Given the description of an element on the screen output the (x, y) to click on. 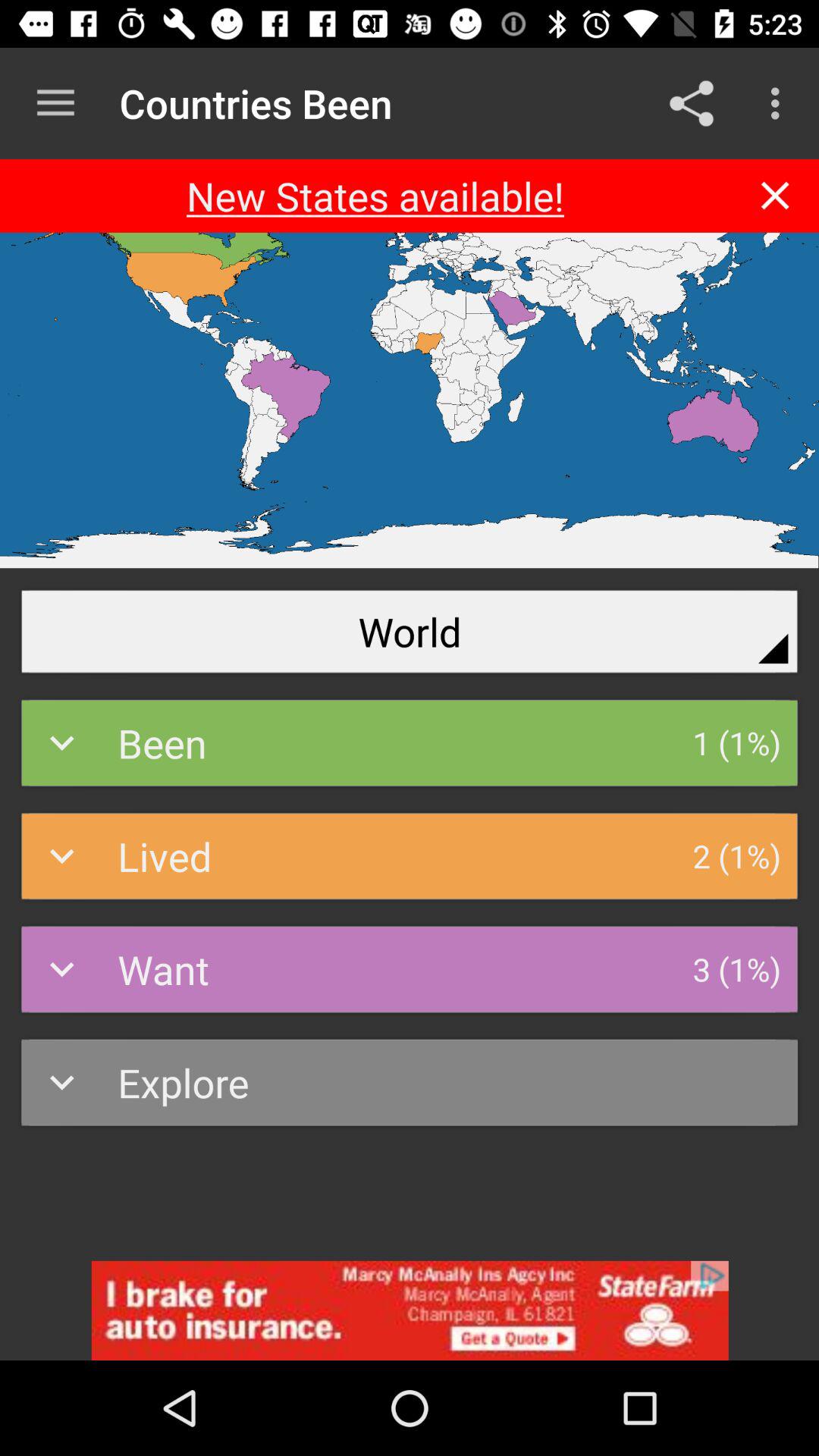
menu page (775, 195)
